Given the description of an element on the screen output the (x, y) to click on. 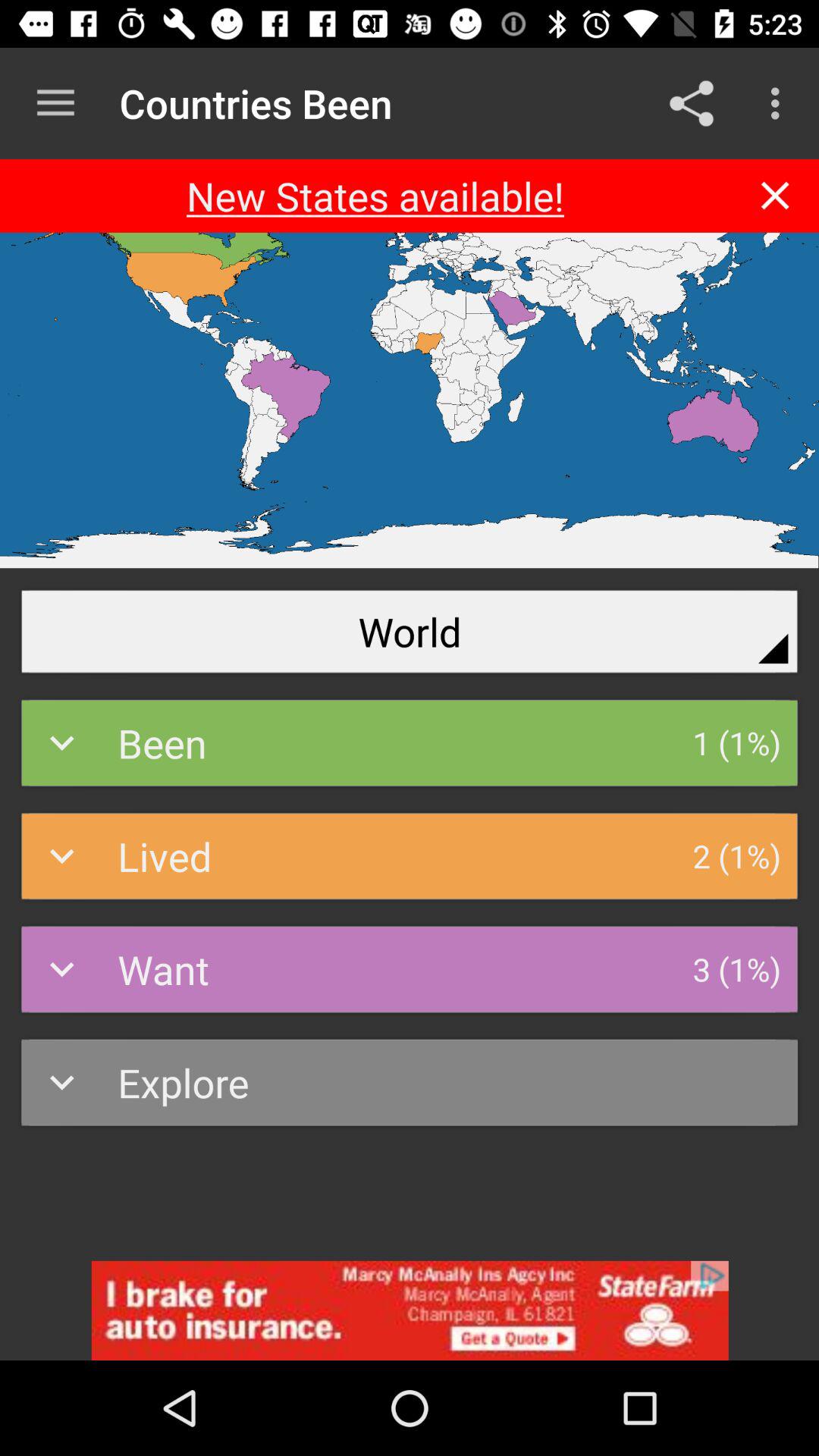
menu page (775, 195)
